Given the description of an element on the screen output the (x, y) to click on. 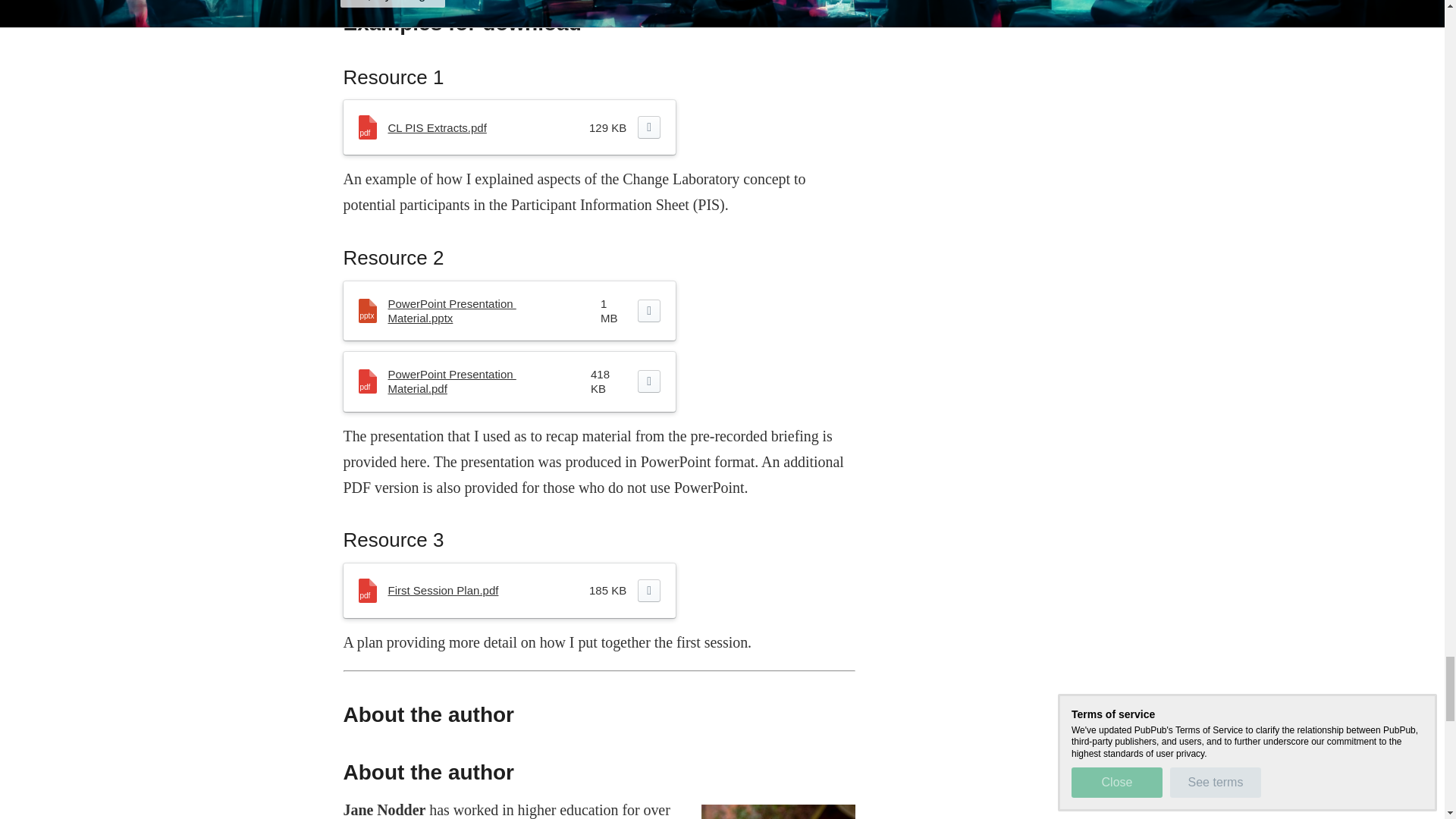
PowerPoint Presentation Material.pptx (452, 310)
First Session Plan.pdf (443, 590)
CL PIS Extracts.pdf (437, 127)
PowerPoint Presentation Material.pdf (452, 380)
